Given the description of an element on the screen output the (x, y) to click on. 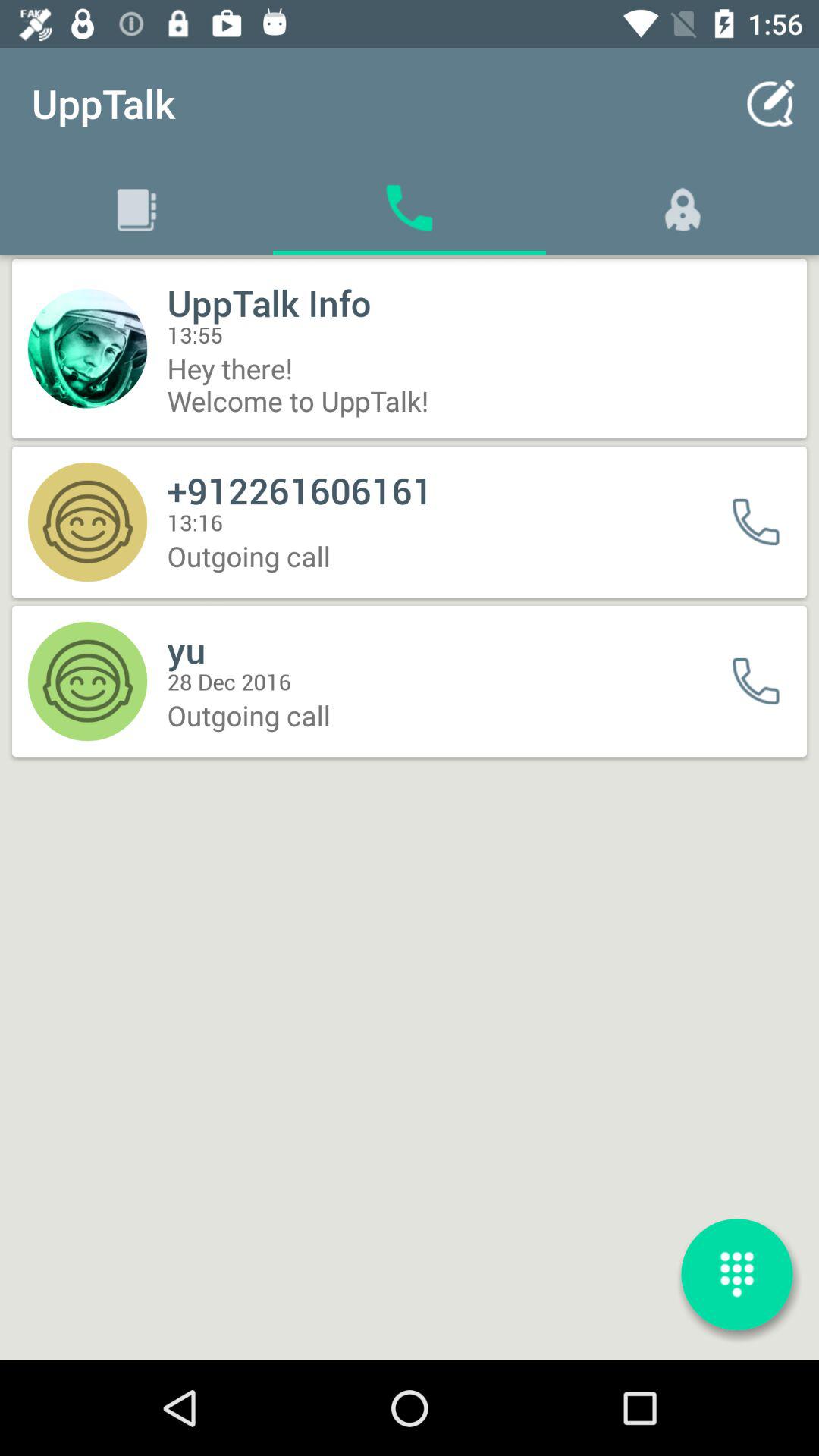
cell (765, 521)
